Given the description of an element on the screen output the (x, y) to click on. 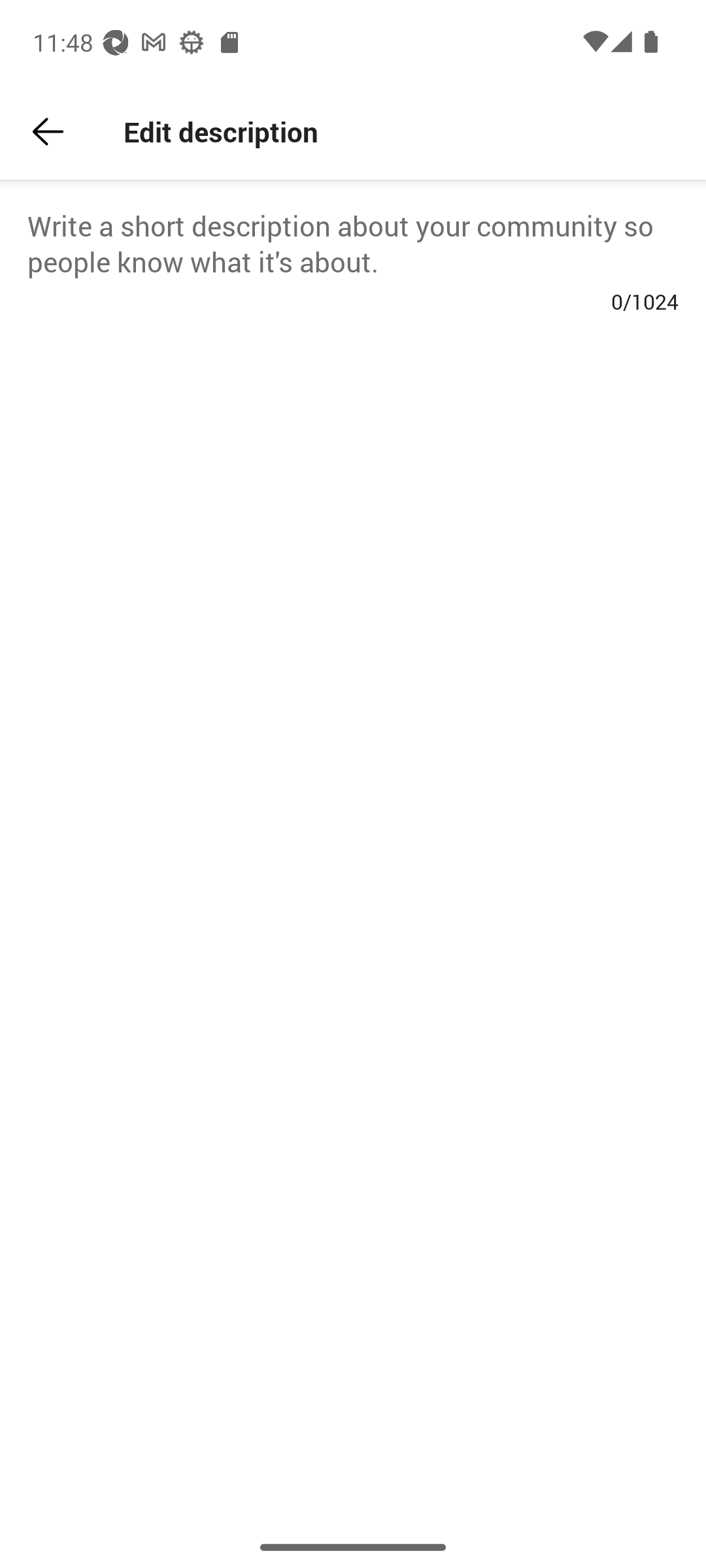
Back (48, 131)
